Given the description of an element on the screen output the (x, y) to click on. 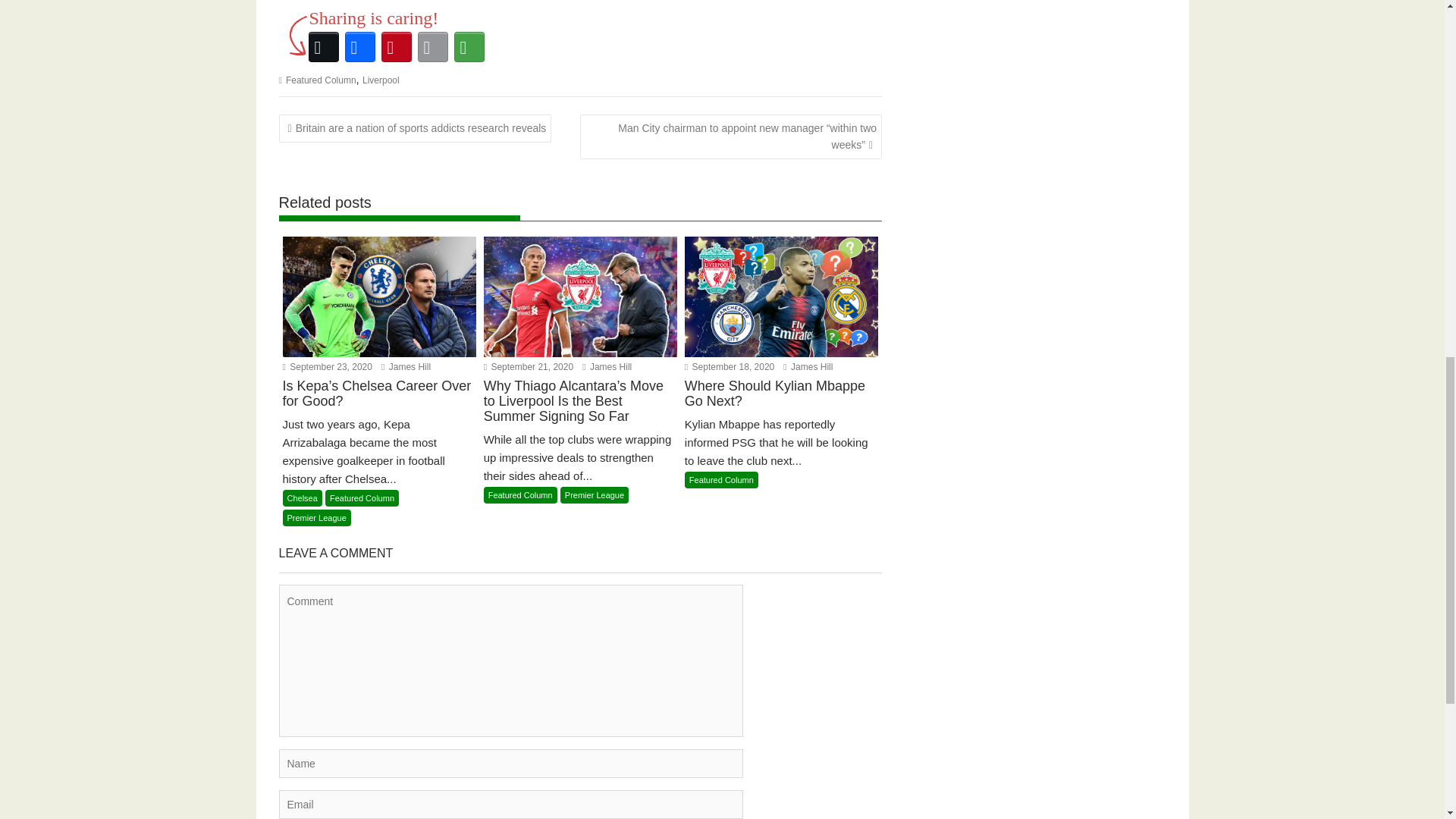
September 21, 2020 (528, 366)
More Options (467, 46)
Pinterest (395, 46)
Liverpool (380, 80)
Chelsea (301, 497)
James Hill (606, 366)
Featured Column (320, 80)
James Hill (807, 366)
Britain are a nation of sports addicts research reveals (415, 127)
Email This (431, 46)
Premier League (316, 517)
James Hill (405, 366)
Featured Column (520, 494)
James Hill (405, 366)
Facebook (358, 46)
